Given the description of an element on the screen output the (x, y) to click on. 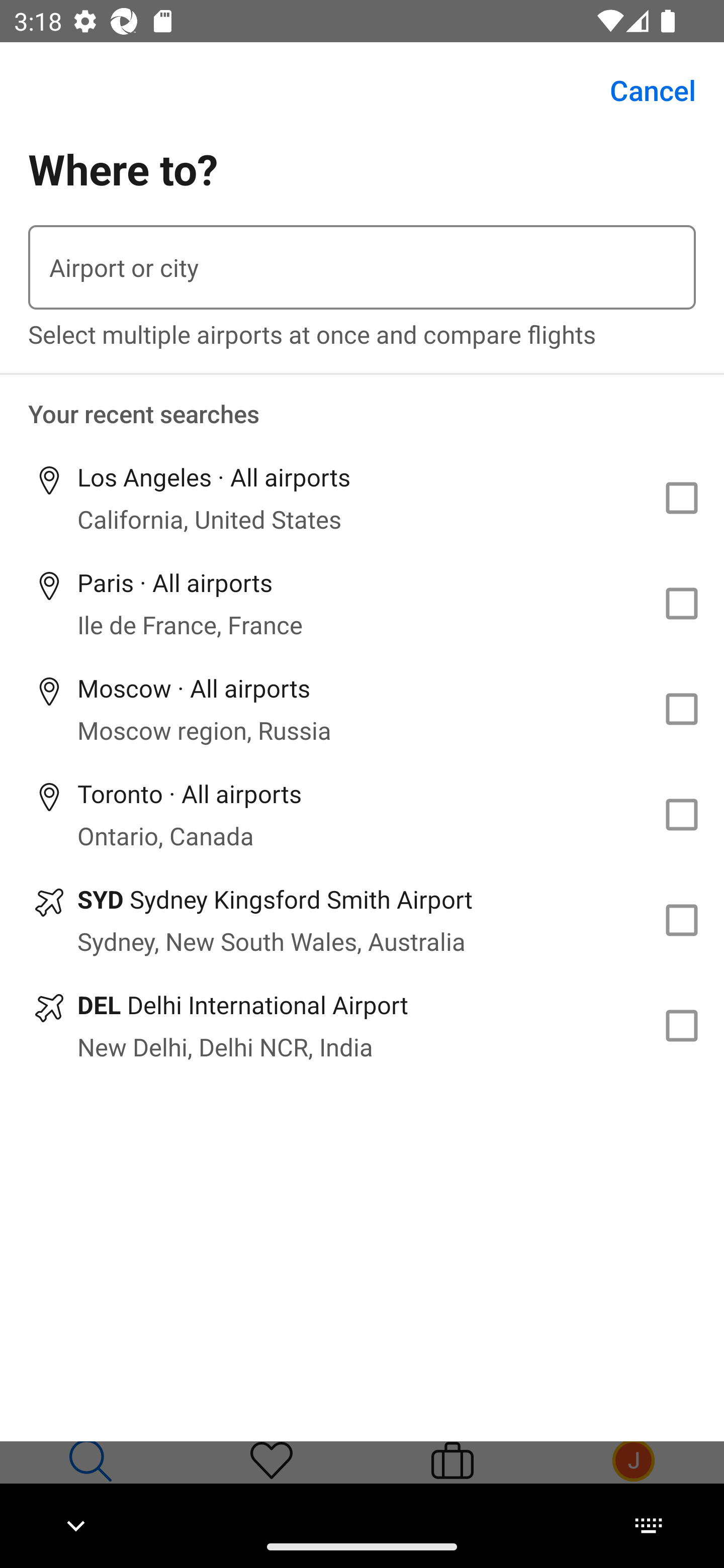
Cancel (641, 90)
Airport or city (361, 266)
Paris · All airports Ile de France, France (362, 603)
Moscow · All airports Moscow region, Russia (362, 709)
Toronto · All airports Ontario, Canada (362, 814)
